Given the description of an element on the screen output the (x, y) to click on. 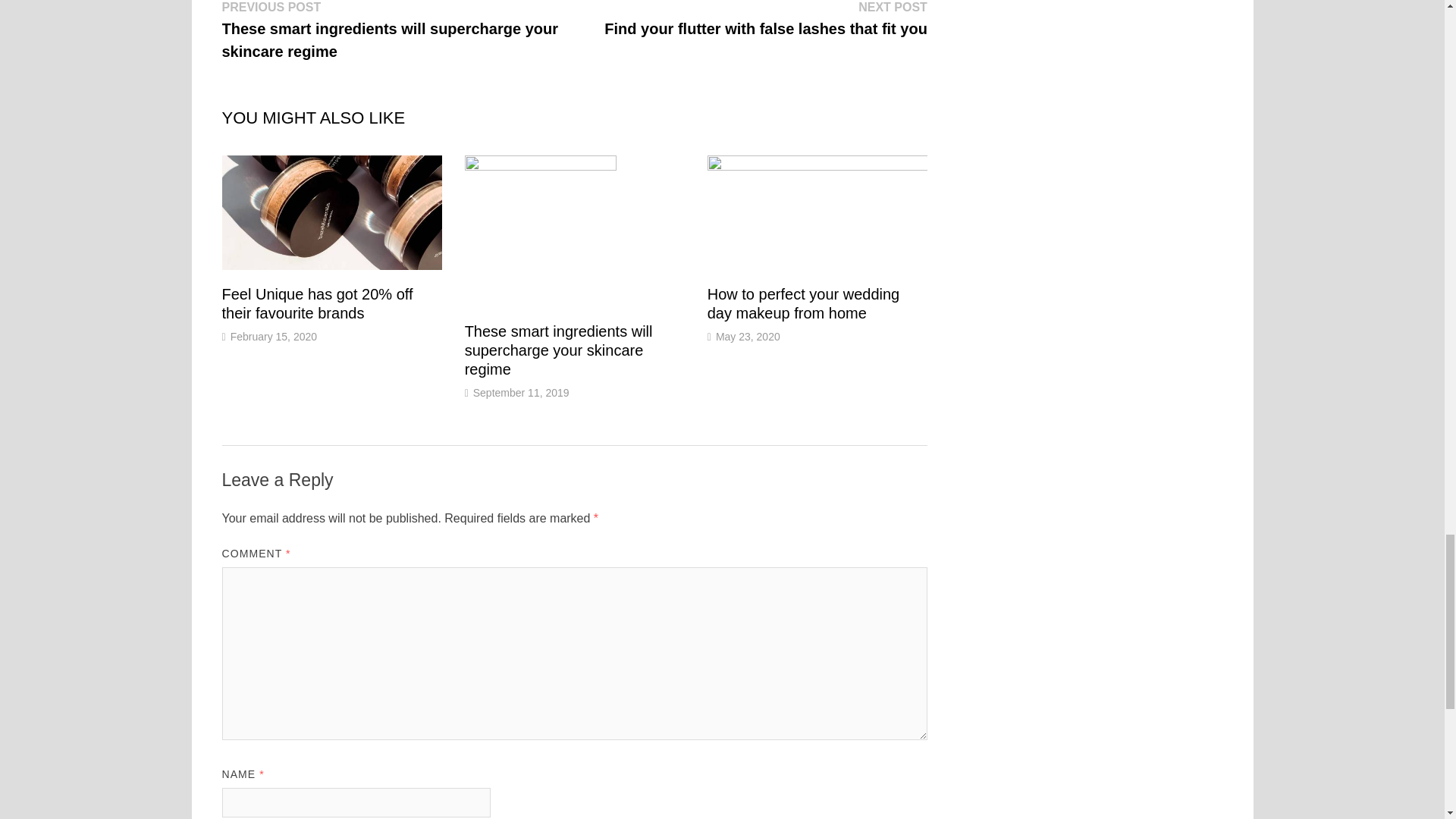
February 15, 2020 (273, 336)
How to perfect your wedding day makeup from home (803, 303)
How to perfect your wedding day makeup from home (803, 303)
May 23, 2020 (748, 336)
September 11, 2019 (521, 392)
